Given the description of an element on the screen output the (x, y) to click on. 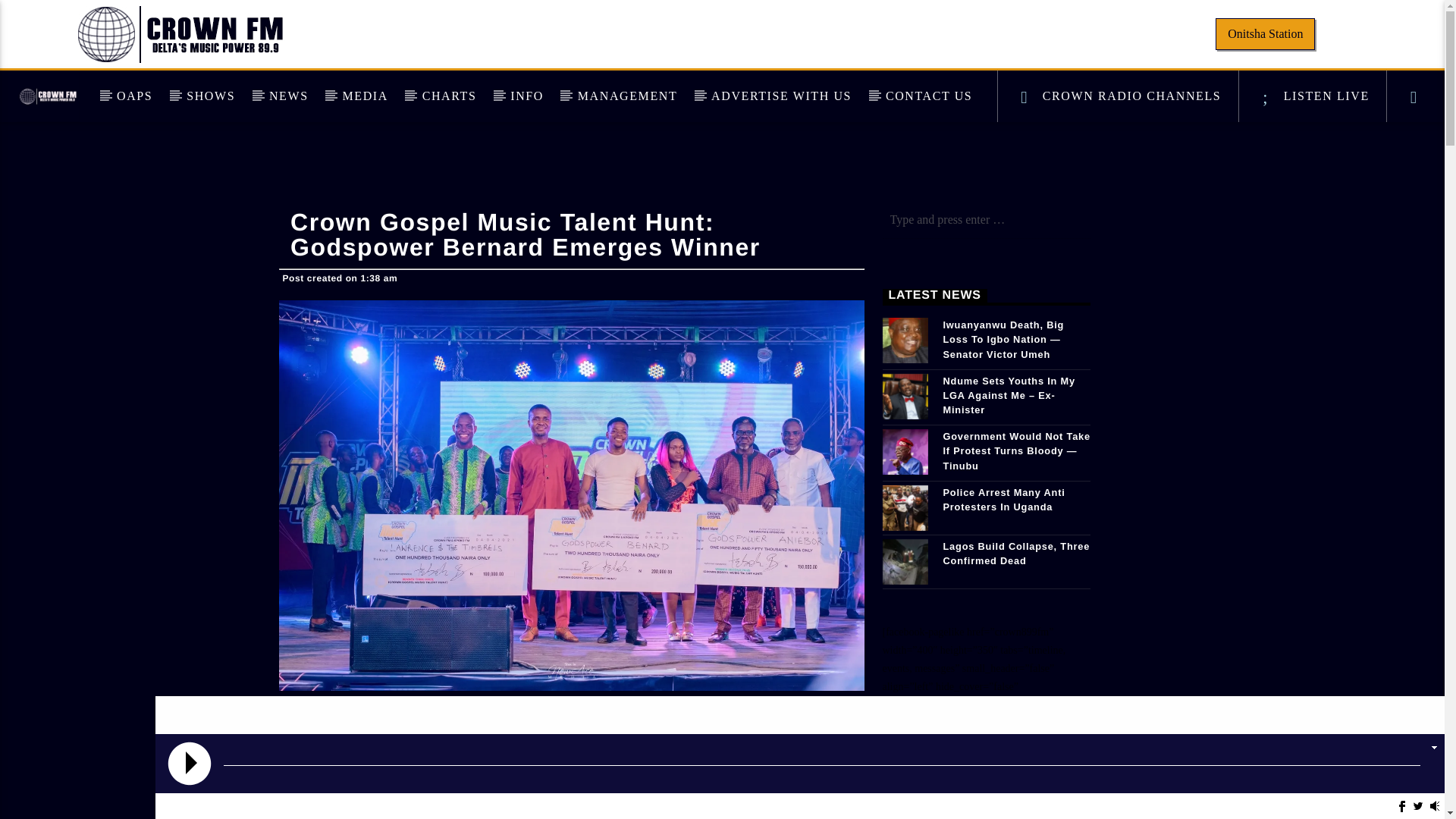
MEDIA (364, 96)
OAPS (135, 96)
Twitter (1417, 806)
NEWS (288, 96)
Onitsha Station (1264, 33)
SHOWS (210, 96)
INFO (526, 96)
Facebook (1400, 806)
Minimize (1433, 746)
CHARTS (448, 96)
  Onitsha Station (1263, 33)
